Given the description of an element on the screen output the (x, y) to click on. 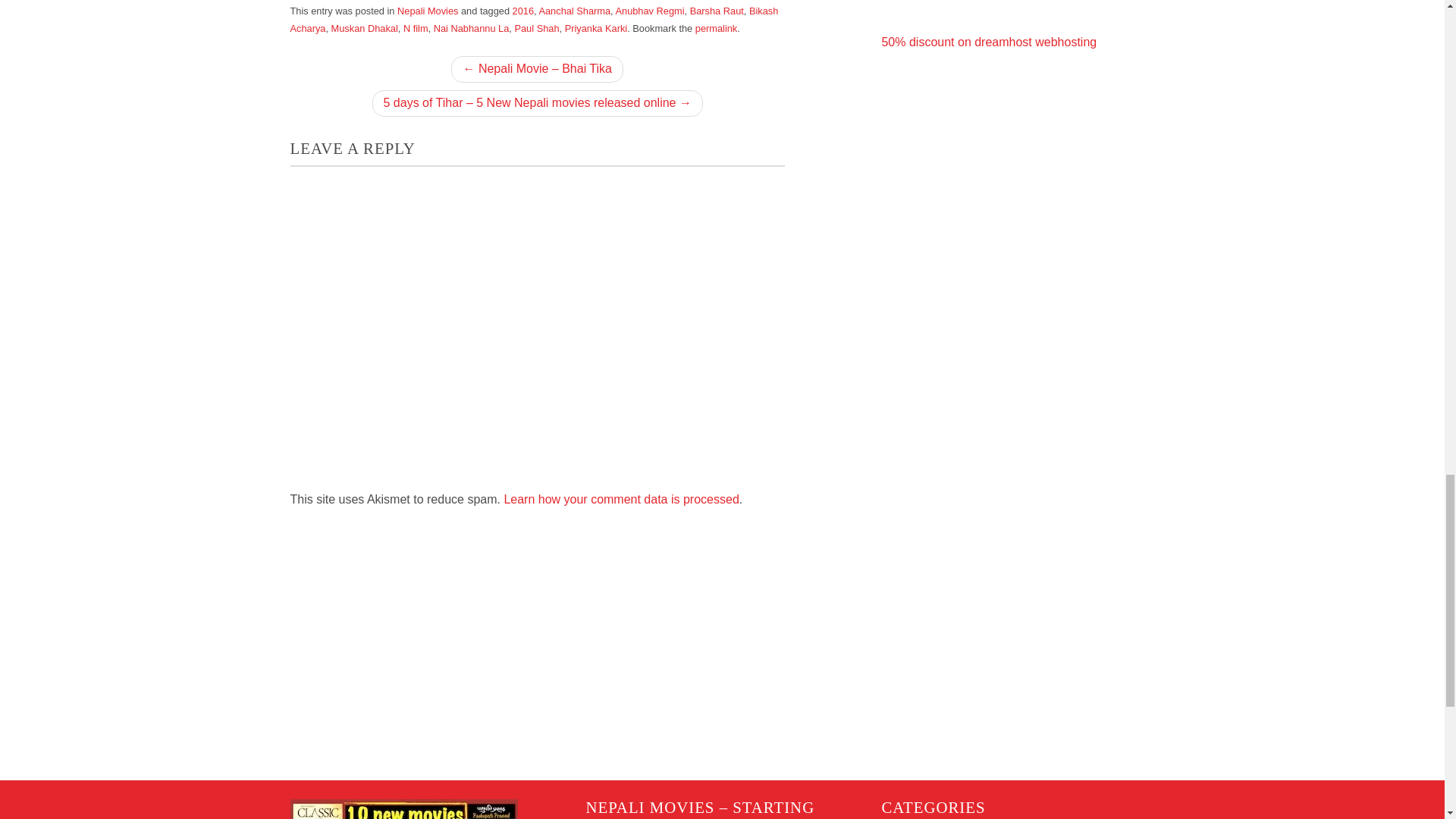
Bikash Acharya (533, 19)
Aanchal Sharma (574, 10)
Anubhav Regmi (649, 10)
Nepali Movies (427, 10)
Barsha Raut (717, 10)
2016 (523, 10)
Muskan Dhakal (364, 28)
